Given the description of an element on the screen output the (x, y) to click on. 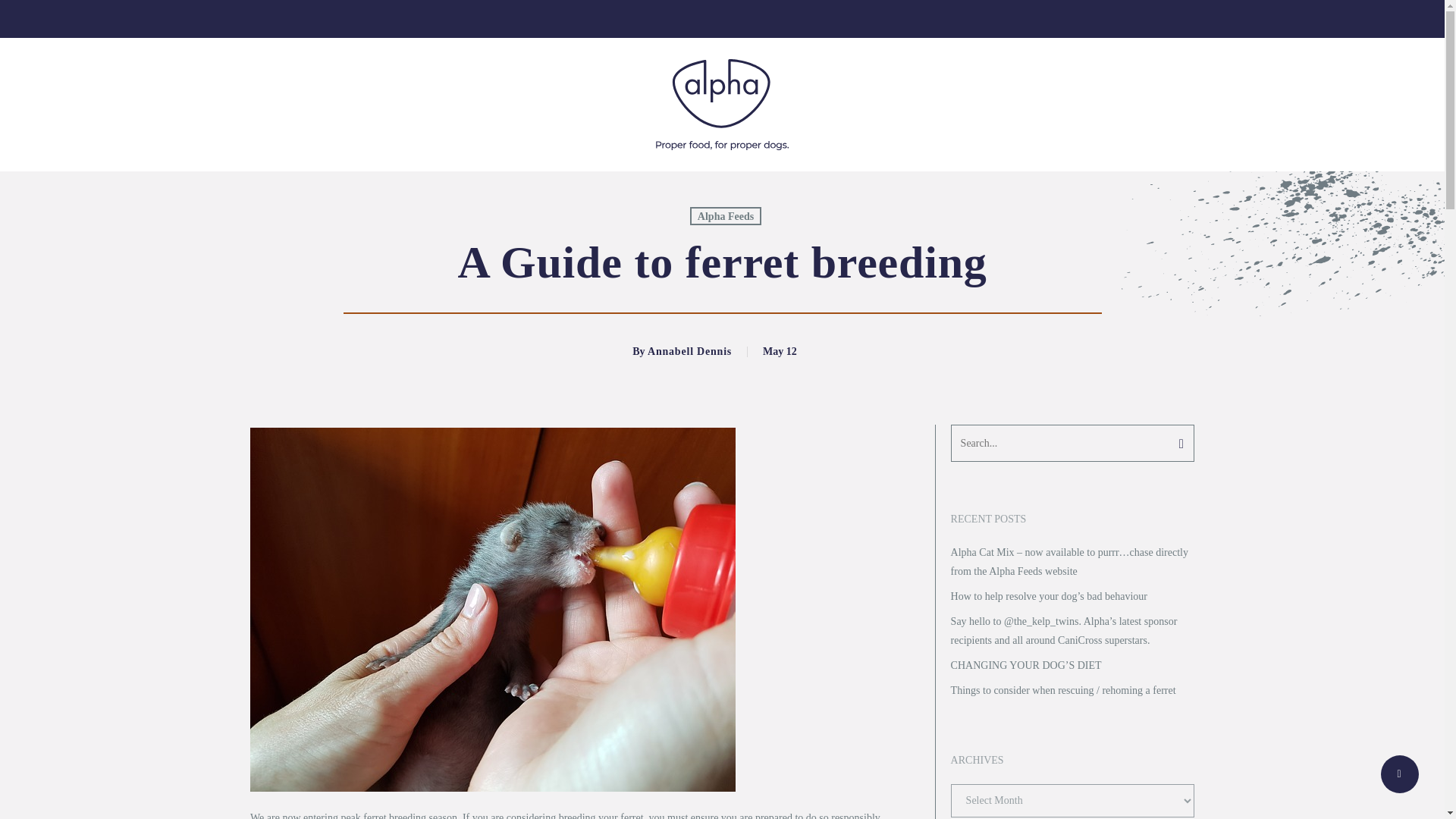
Posts by Annabell Dennis (689, 351)
Annabell Dennis (689, 351)
Alpha Feeds (725, 216)
Search for: (1071, 443)
